Given the description of an element on the screen output the (x, y) to click on. 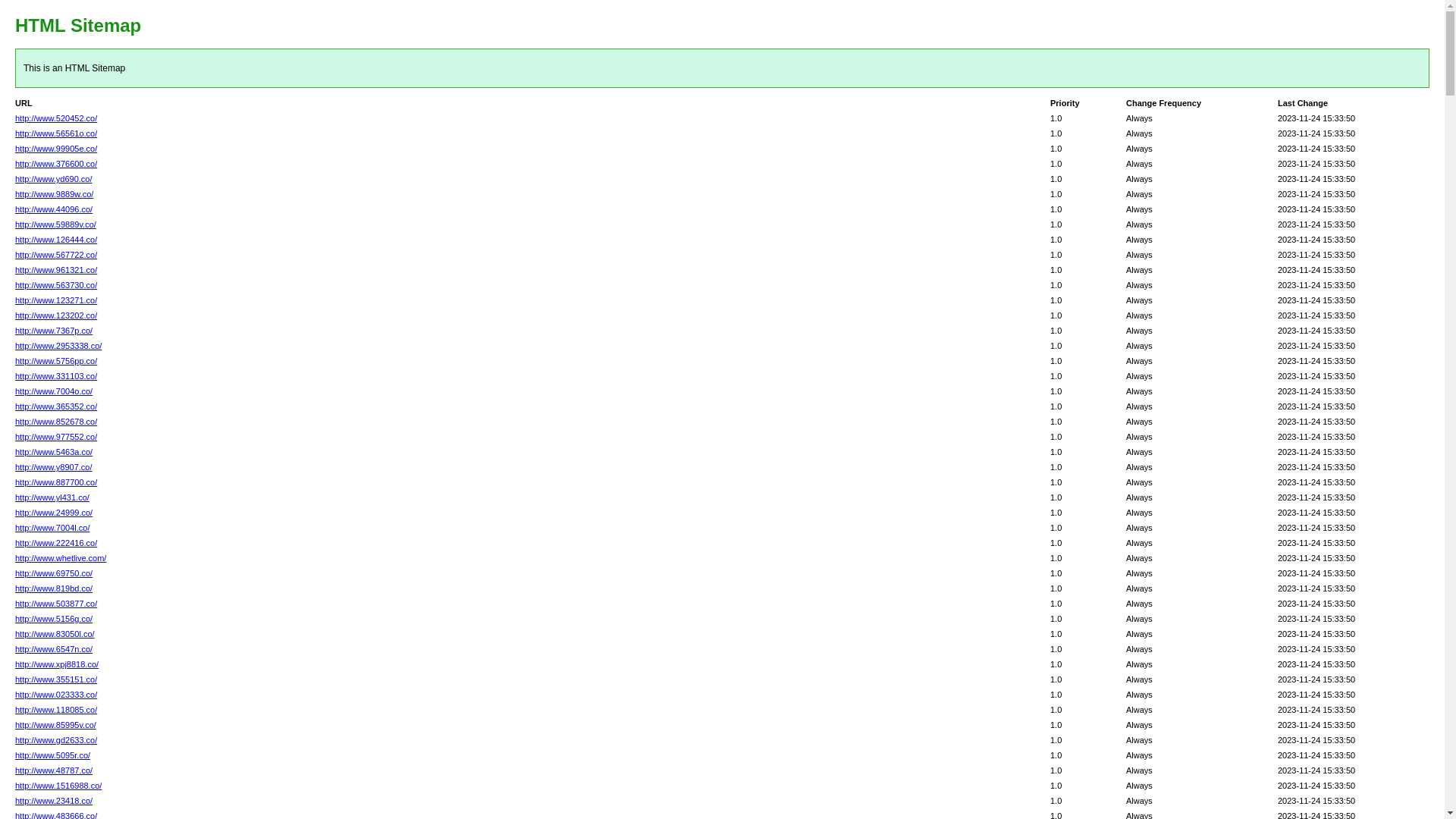
http://www.9889w.co/ Element type: text (54, 193)
http://www.1516988.co/ Element type: text (58, 785)
http://www.xpj8818.co/ Element type: text (56, 663)
http://www.85995v.co/ Element type: text (55, 724)
http://www.99905e.co/ Element type: text (56, 148)
http://www.24999.co/ Element type: text (53, 512)
http://www.gd2633.co/ Element type: text (56, 739)
http://www.5156g.co/ Element type: text (53, 618)
http://www.819bd.co/ Element type: text (53, 588)
http://www.7367p.co/ Element type: text (53, 330)
http://www.48787.co/ Element type: text (53, 770)
http://www.222416.co/ Element type: text (56, 542)
http://www.365352.co/ Element type: text (56, 406)
http://www.563730.co/ Element type: text (56, 284)
http://www.whetlive.com/ Element type: text (60, 557)
http://www.118085.co/ Element type: text (56, 709)
http://www.5463a.co/ Element type: text (53, 451)
http://www.567722.co/ Element type: text (56, 254)
http://www.126444.co/ Element type: text (56, 239)
http://www.59889v.co/ Element type: text (55, 224)
http://www.44096.co/ Element type: text (53, 208)
http://www.331103.co/ Element type: text (56, 375)
http://www.7004o.co/ Element type: text (53, 390)
http://www.5095r.co/ Element type: text (52, 754)
http://www.69750.co/ Element type: text (53, 572)
http://www.2953338.co/ Element type: text (58, 345)
http://www.6547n.co/ Element type: text (53, 648)
http://www.123202.co/ Element type: text (56, 315)
http://www.5756pp.co/ Element type: text (56, 360)
http://www.yl431.co/ Element type: text (52, 497)
http://www.123271.co/ Element type: text (56, 299)
http://www.23418.co/ Element type: text (53, 800)
http://www.852678.co/ Element type: text (56, 421)
http://www.887700.co/ Element type: text (56, 481)
http://www.520452.co/ Element type: text (56, 117)
http://www.83050l.co/ Element type: text (54, 633)
http://www.y8907.co/ Element type: text (53, 466)
http://www.yd690.co/ Element type: text (53, 178)
http://www.355151.co/ Element type: text (56, 679)
http://www.56561o.co/ Element type: text (56, 133)
http://www.7004l.co/ Element type: text (52, 527)
http://www.376600.co/ Element type: text (56, 163)
http://www.961321.co/ Element type: text (56, 269)
http://www.023333.co/ Element type: text (56, 694)
http://www.503877.co/ Element type: text (56, 603)
http://www.977552.co/ Element type: text (56, 436)
